Given the description of an element on the screen output the (x, y) to click on. 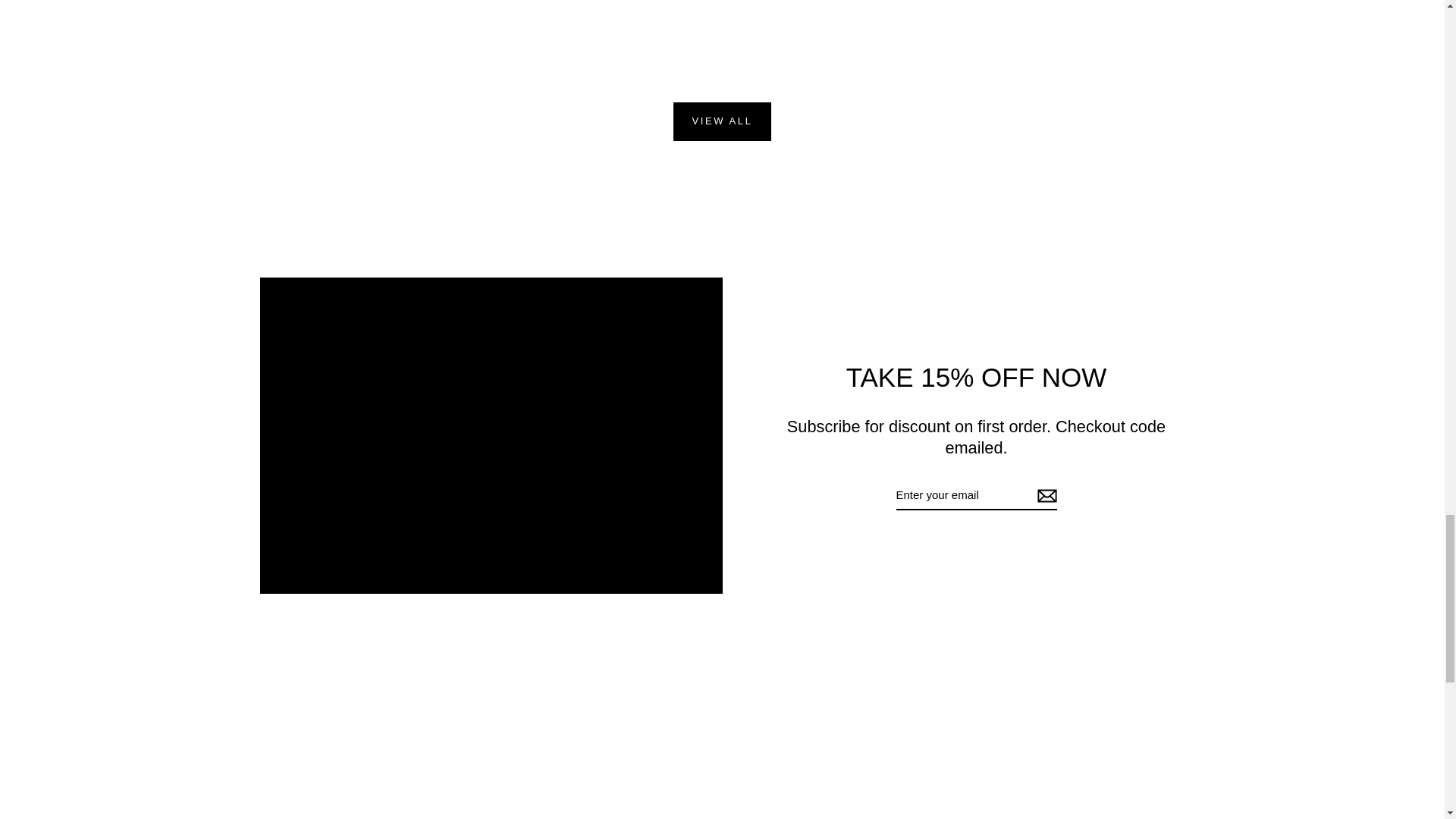
Subscribe (1044, 495)
icon-email (1046, 495)
